Given the description of an element on the screen output the (x, y) to click on. 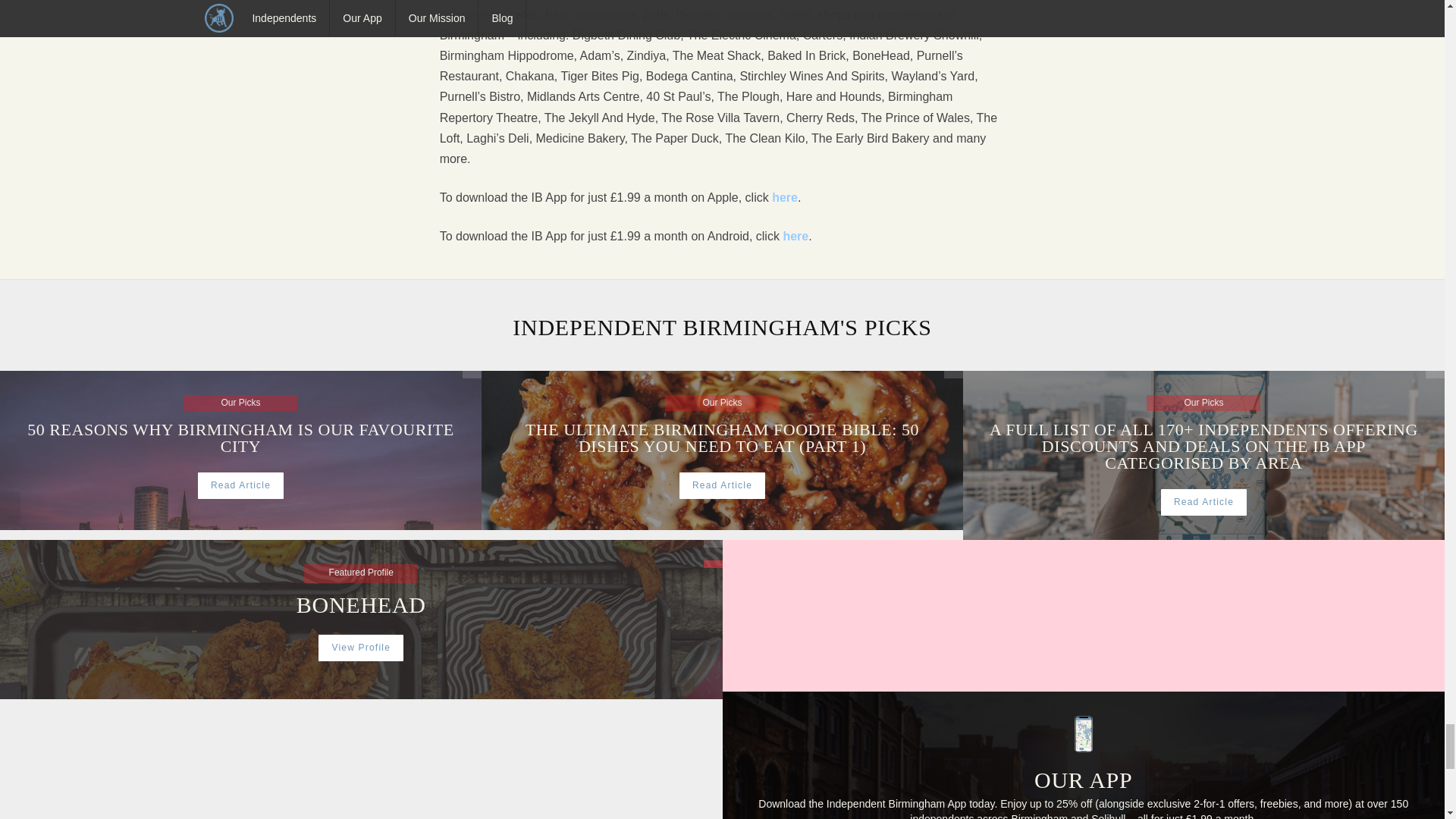
View Profile (240, 432)
here (360, 647)
here (784, 198)
View All Profiles (795, 237)
View All Posts (712, 543)
View All Posts (952, 374)
Read Article (472, 374)
Read Article (240, 484)
Featured Profile (722, 484)
Read Article (712, 564)
